Given the description of an element on the screen output the (x, y) to click on. 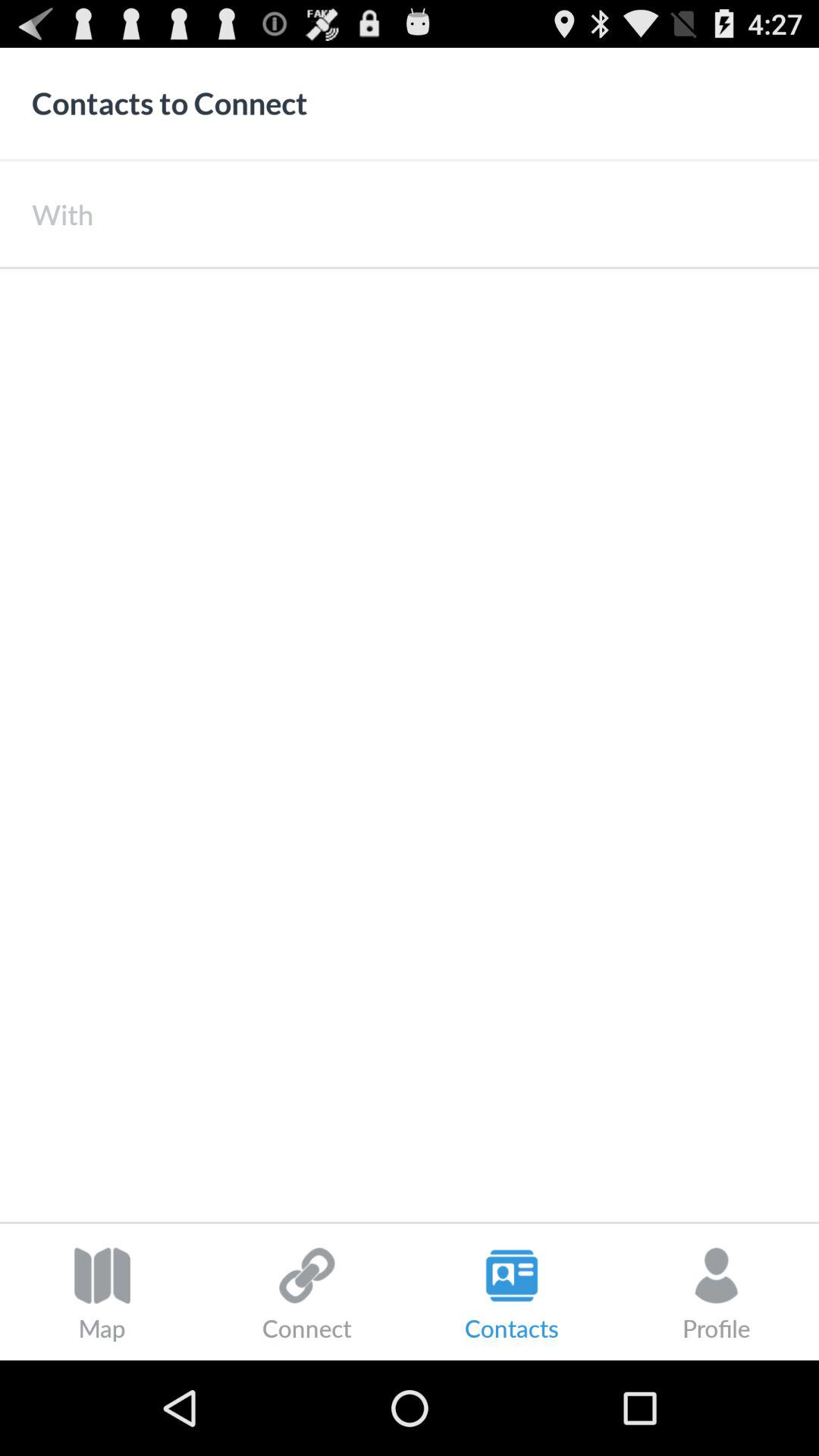
see contact (409, 745)
